Given the description of an element on the screen output the (x, y) to click on. 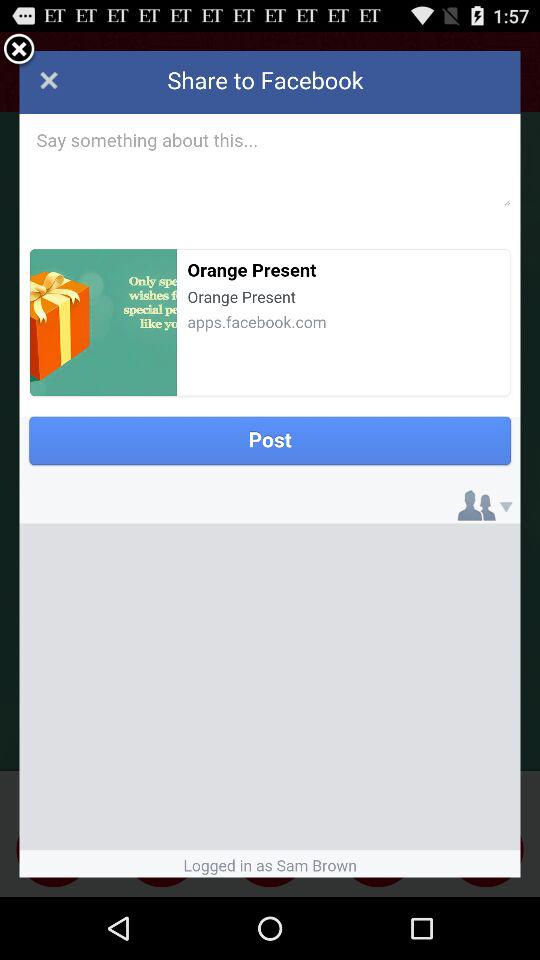
share to facebook (269, 464)
